Given the description of an element on the screen output the (x, y) to click on. 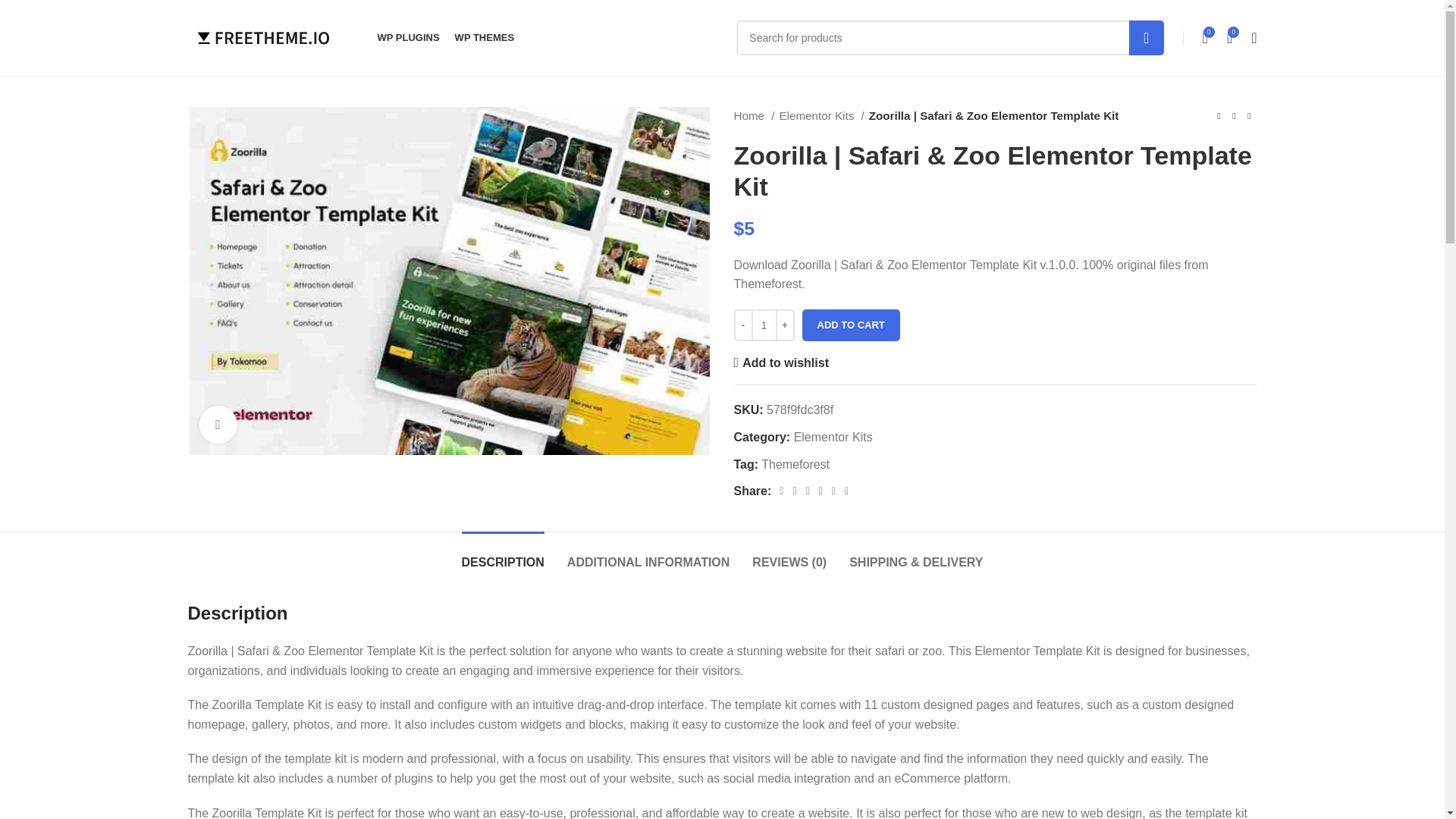
DESCRIPTION (502, 554)
ADDITIONAL INFORMATION (648, 554)
Themeforest (795, 463)
My account (1253, 37)
Home (753, 116)
WP THEMES (484, 37)
Log in (1130, 286)
1 (763, 325)
Shopping cart (1230, 37)
WP PLUGINS (408, 37)
0 (1205, 37)
Search for products (949, 37)
0 (1230, 37)
My Wishlist (1205, 37)
Elementor Kits (820, 116)
